Given the description of an element on the screen output the (x, y) to click on. 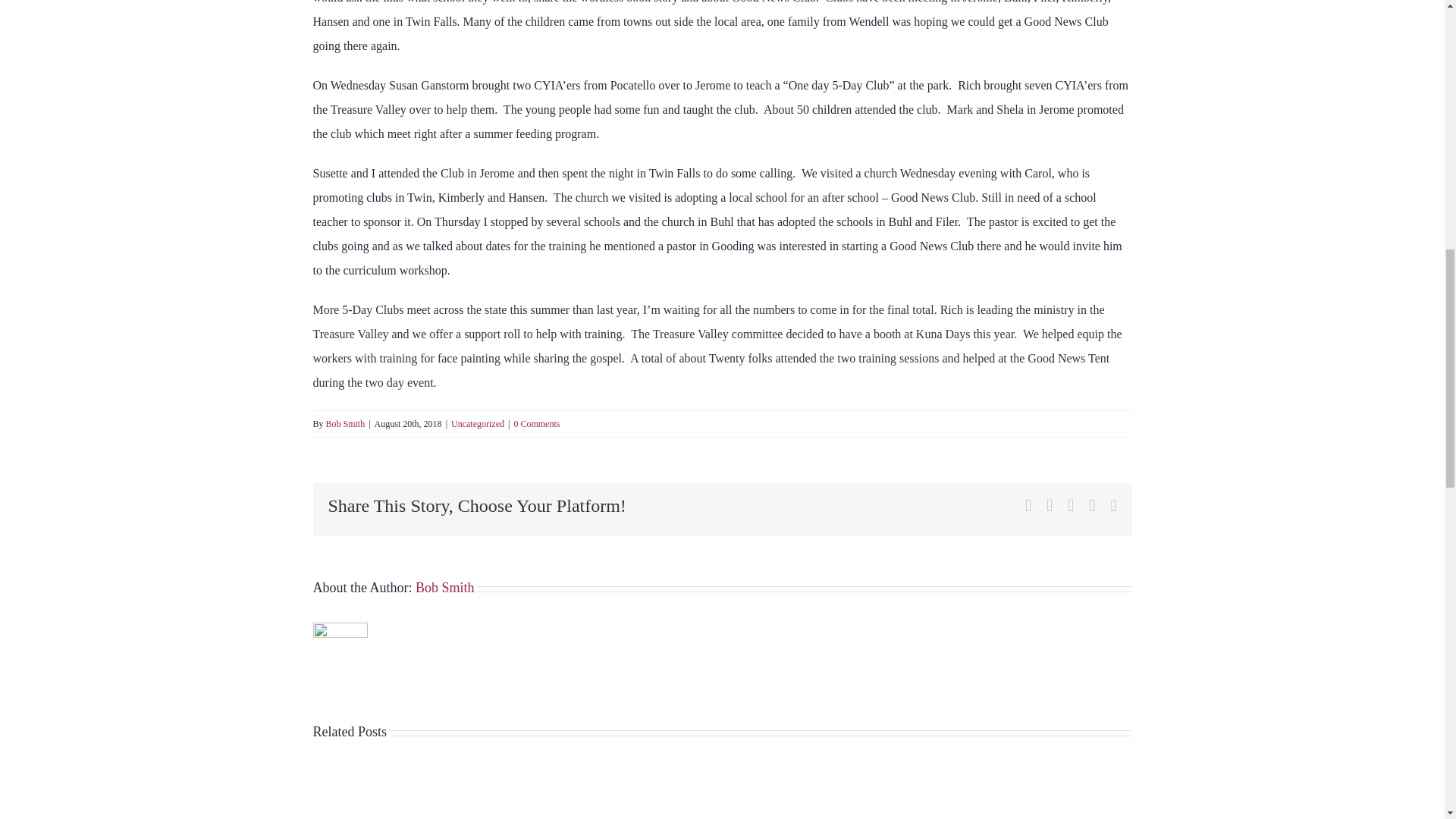
Uncategorized (477, 423)
Bob Smith (345, 423)
Bob Smith (444, 587)
0 Comments (536, 423)
Posts by Bob Smith (345, 423)
Posts by Bob Smith (444, 587)
